Given the description of an element on the screen output the (x, y) to click on. 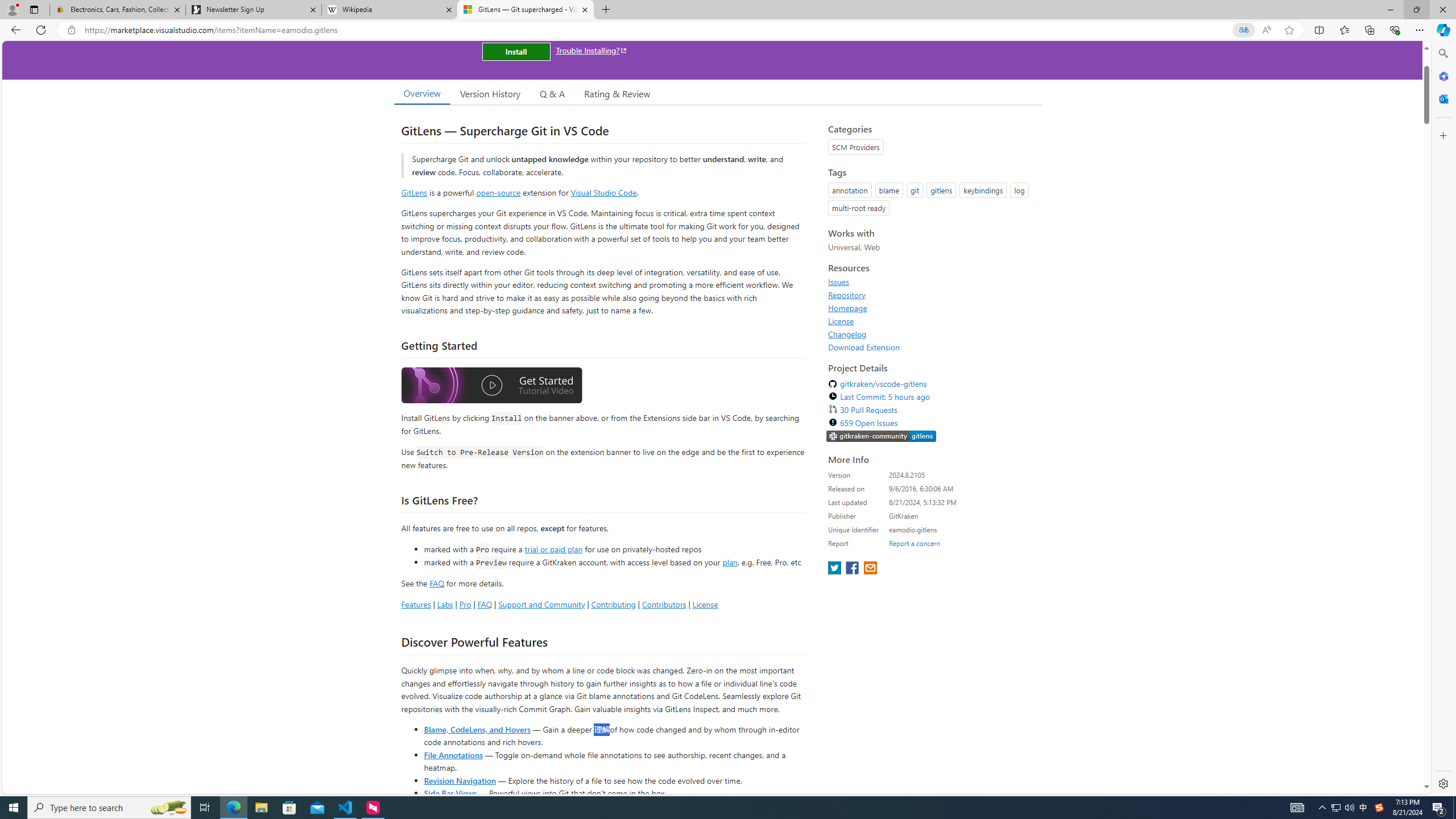
GitLens (414, 192)
Pro (464, 603)
Restore (1416, 9)
Newsletter Sign Up (253, 9)
Version History (489, 92)
